Given the description of an element on the screen output the (x, y) to click on. 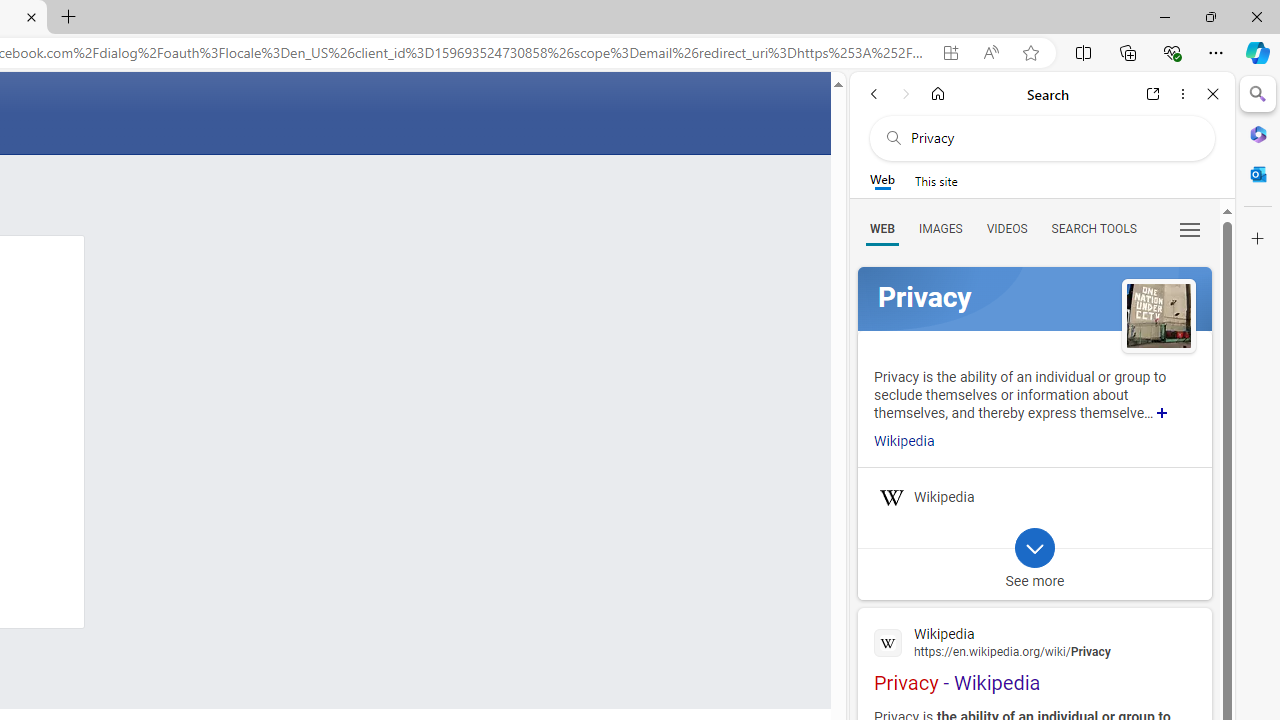
Search Filter, Search Tools (1093, 228)
Class: b_serphb (1190, 229)
Outlook (1258, 174)
IMAGES (939, 228)
Web scope (882, 180)
Search Filter, WEB (882, 228)
Search the web (1051, 137)
WEB   (882, 228)
